Given the description of an element on the screen output the (x, y) to click on. 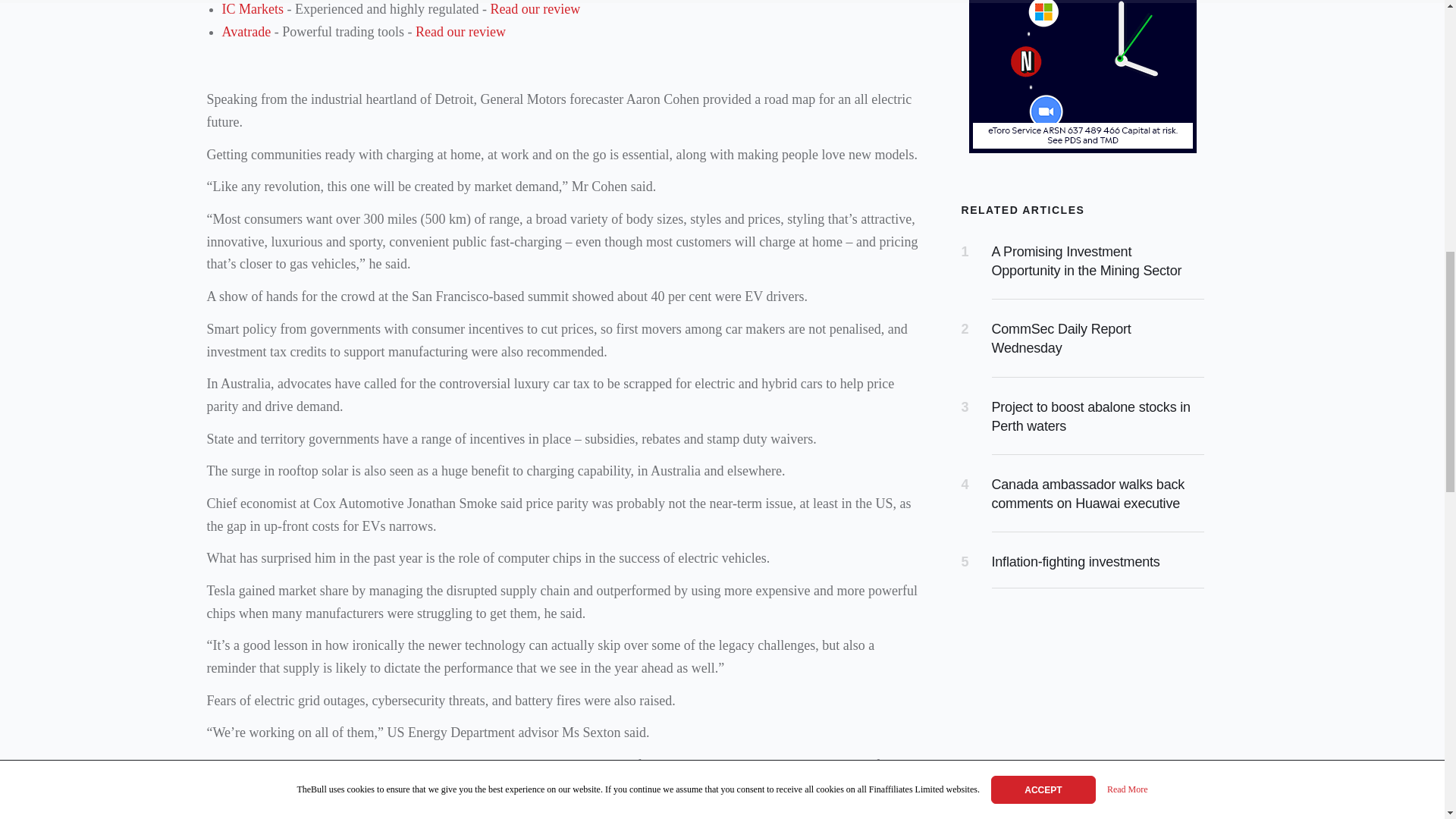
Avatrade (245, 31)
Canada ambassador walks back comments on Huawai executive (1088, 493)
Read our review (534, 8)
CommSec Daily Report Wednesday (1061, 338)
CommSec Daily Report Wednesday (1061, 338)
A Promising Investment Opportunity in the Mining Sector (1086, 261)
IC Markets (251, 8)
Read our review (459, 31)
Inflation-fighting investments (1075, 561)
Project to boost abalone stocks in Perth waters (1091, 416)
A Promising Investment Opportunity in the Mining Sector (1086, 261)
Project to boost abalone stocks in Perth waters (1091, 416)
Canada ambassador walks back comments on Huawai executive (1088, 493)
Inflation-fighting investments (1075, 561)
